Given the description of an element on the screen output the (x, y) to click on. 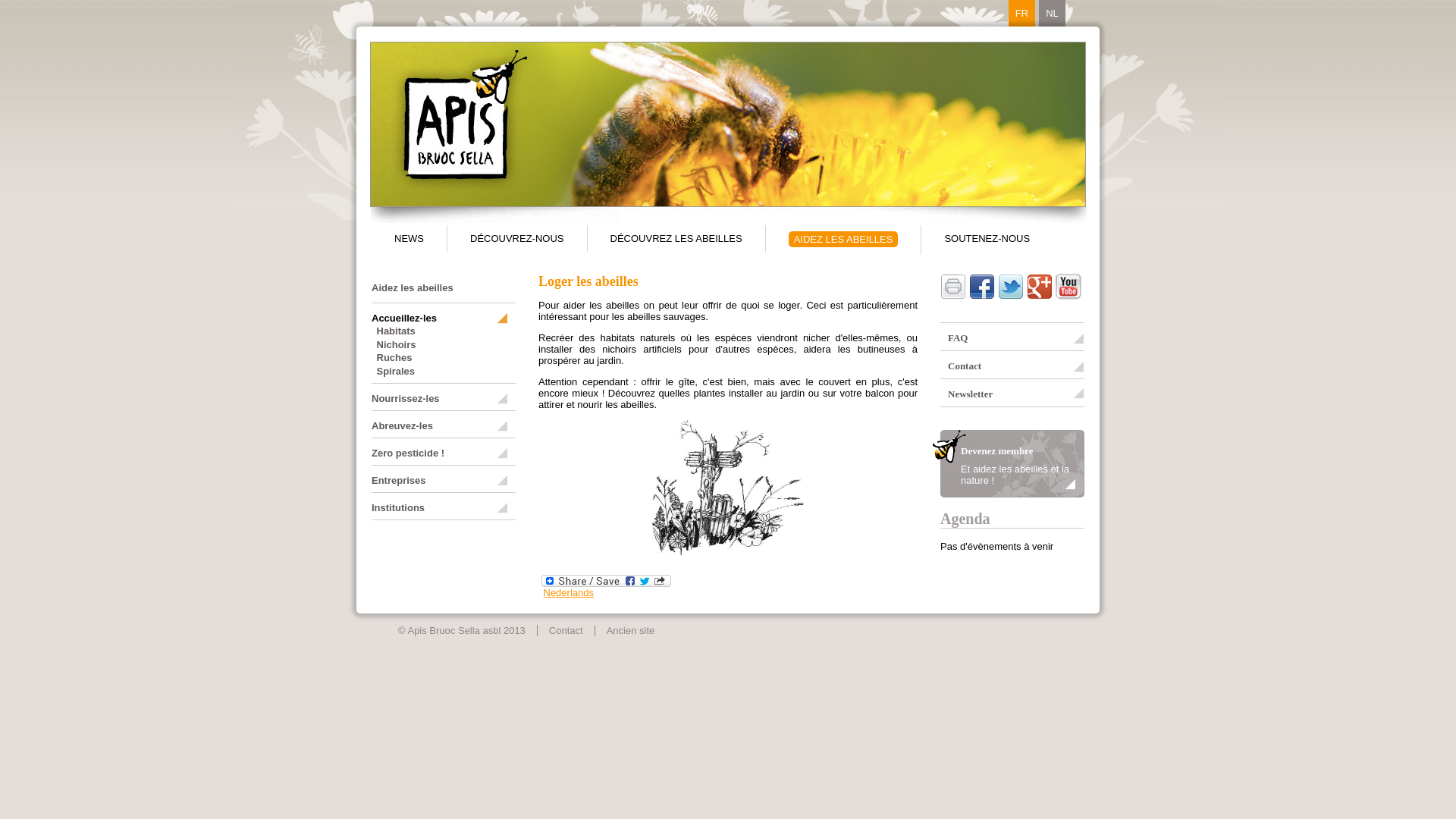
Abreuvez-les Element type: text (439, 425)
Aller au contenu principal Element type: text (55, 0)
Nichoirs Element type: text (395, 344)
Accueillez-les Element type: text (439, 317)
Contact Element type: text (566, 630)
Ancien site Element type: text (630, 630)
Institutions Element type: text (439, 507)
NEWS Element type: text (408, 238)
SOUTENEZ-NOUS Element type: text (986, 238)
Contact Element type: text (1012, 366)
Ruches Element type: text (393, 357)
Et aidez les abeilles et la nature ! Element type: text (1014, 474)
Nourrissez-les Element type: text (439, 398)
FR Element type: text (1021, 13)
Zero pesticide ! Element type: text (439, 452)
Habitats Element type: text (395, 330)
Entreprises Element type: text (439, 480)
Nederlands Element type: text (567, 592)
Aidez les abeilles Element type: text (412, 287)
Spirales Element type: text (395, 370)
NL Element type: text (1051, 13)
AIDEZ LES ABEILLES Element type: text (843, 239)
FAQ Element type: text (1012, 338)
